Given the description of an element on the screen output the (x, y) to click on. 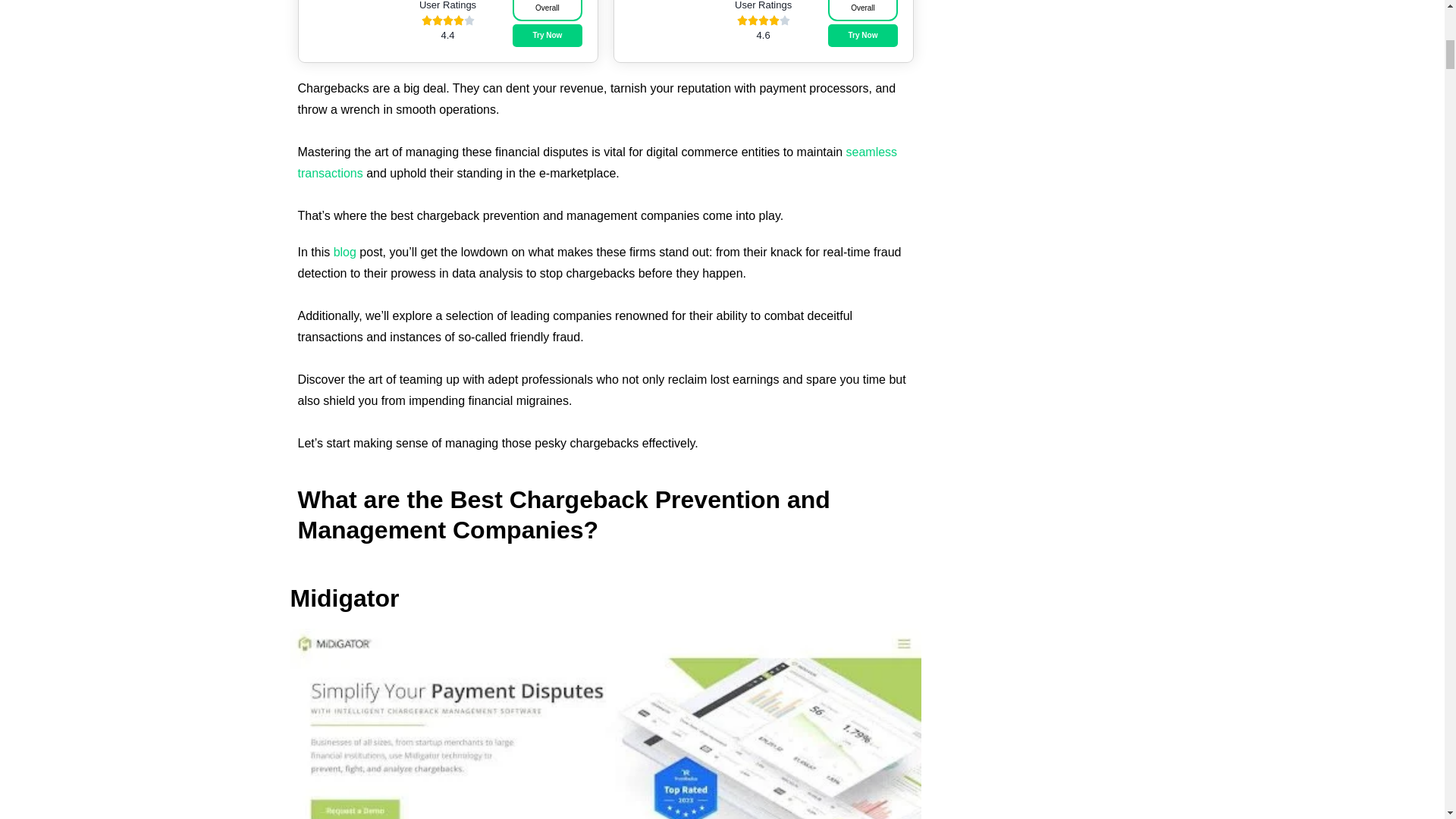
seamless transactions (596, 162)
blog (344, 251)
Try Now (862, 35)
Try Now (546, 35)
